Given the description of an element on the screen output the (x, y) to click on. 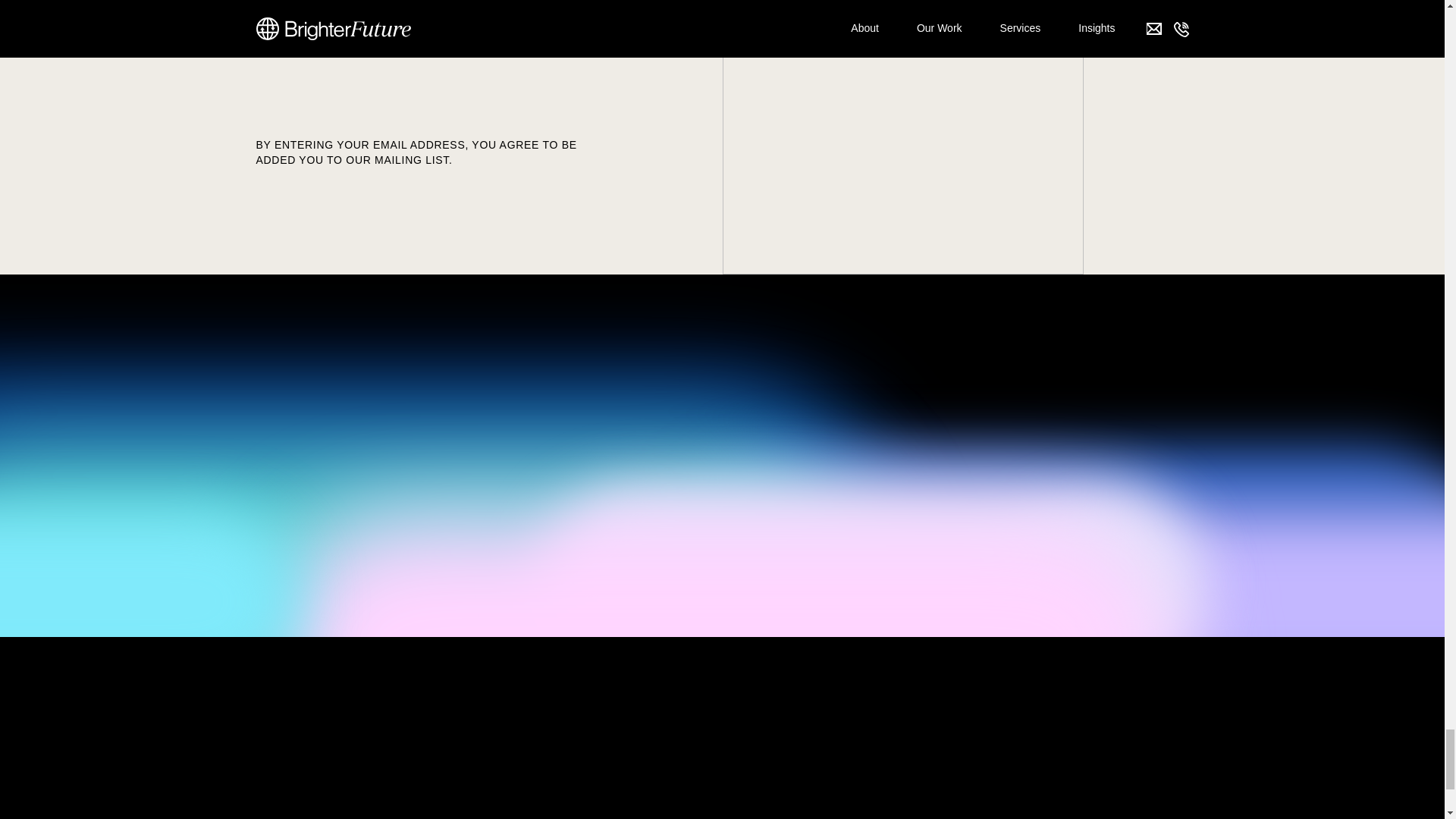
Submit (280, 114)
